Given the description of an element on the screen output the (x, y) to click on. 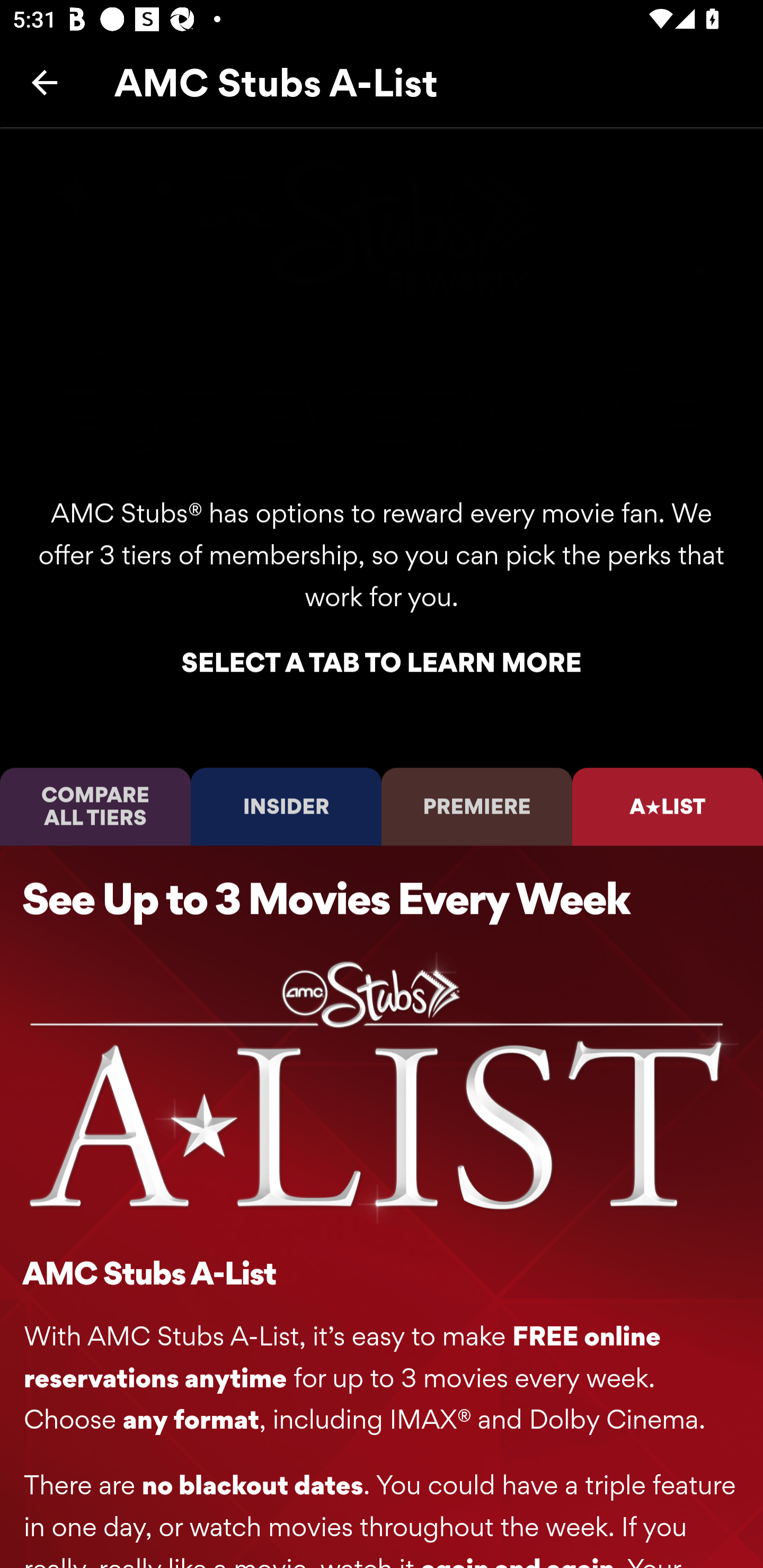
Back (44, 82)
COMPARE ALL TIERS COMPARE ALL TIERS (95, 806)
INSIDER (285, 806)
PREMIERE (476, 806)
A★LIST (667, 806)
